Given the description of an element on the screen output the (x, y) to click on. 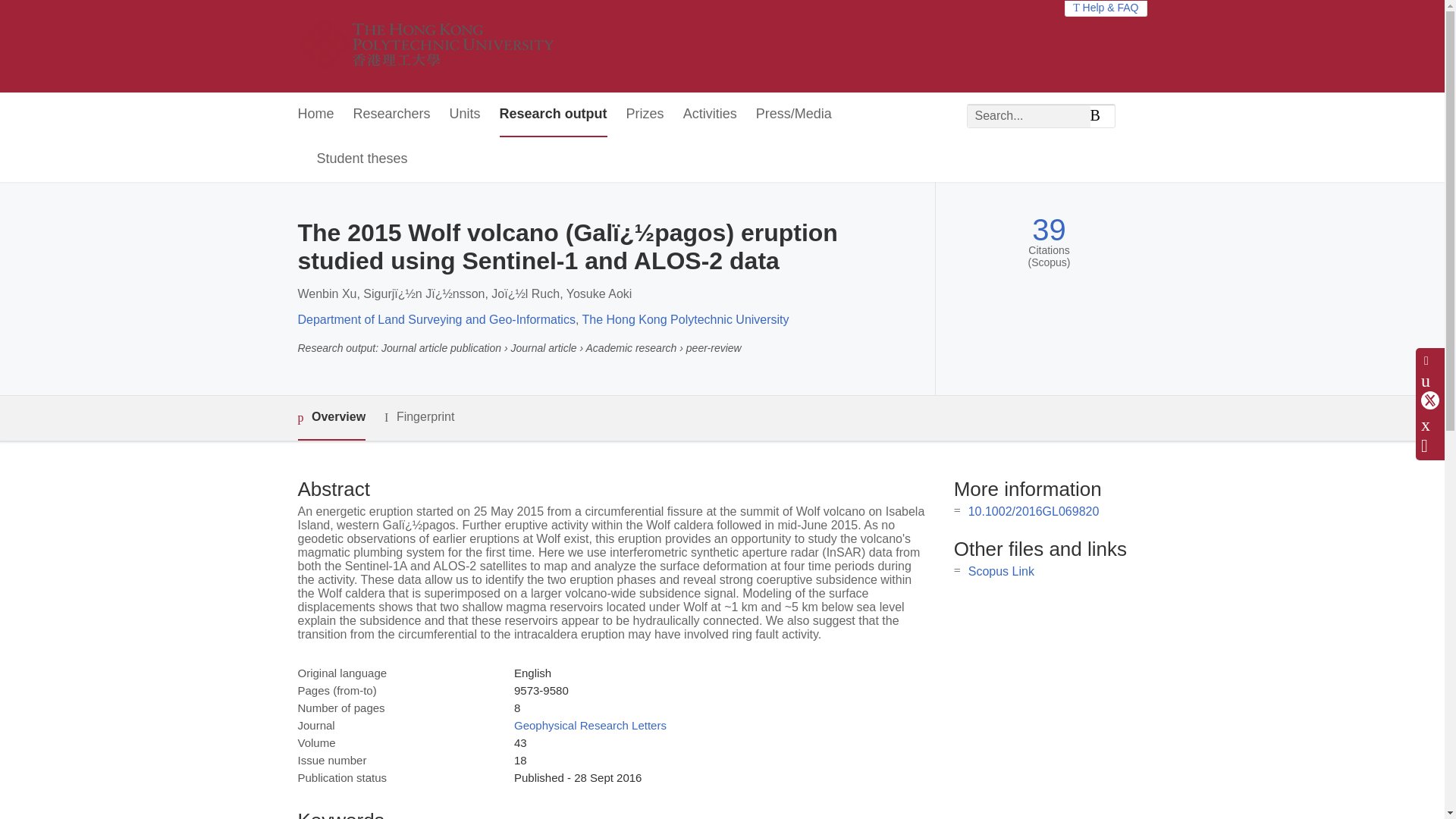
39 (1048, 230)
Research output (553, 114)
Student theses (362, 159)
PolyU Scholars Hub Home (444, 46)
Overview (331, 417)
Geophysical Research Letters (589, 725)
Scopus Link (1000, 571)
Fingerprint (419, 416)
The Hong Kong Polytechnic University (685, 318)
